Given the description of an element on the screen output the (x, y) to click on. 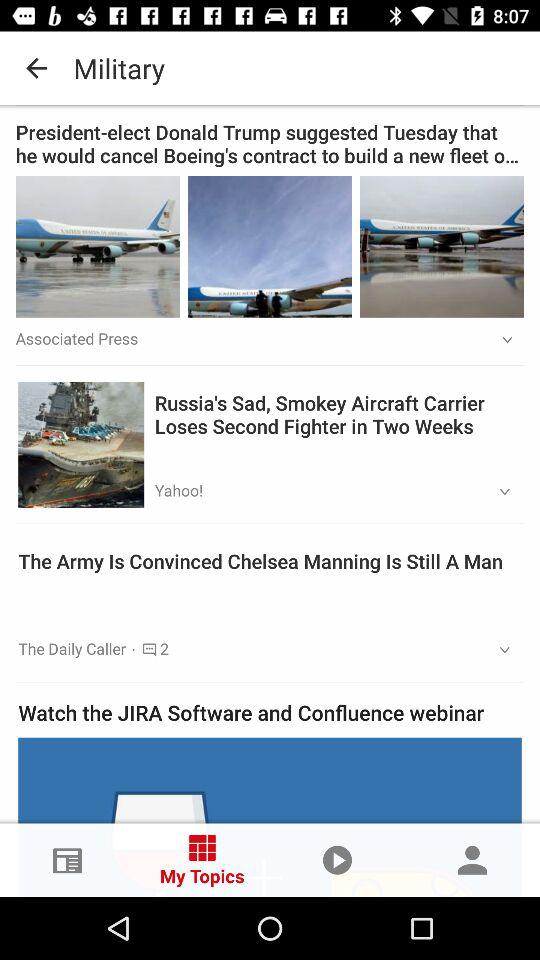
choose item to the right of the yahoo! icon (498, 492)
